Given the description of an element on the screen output the (x, y) to click on. 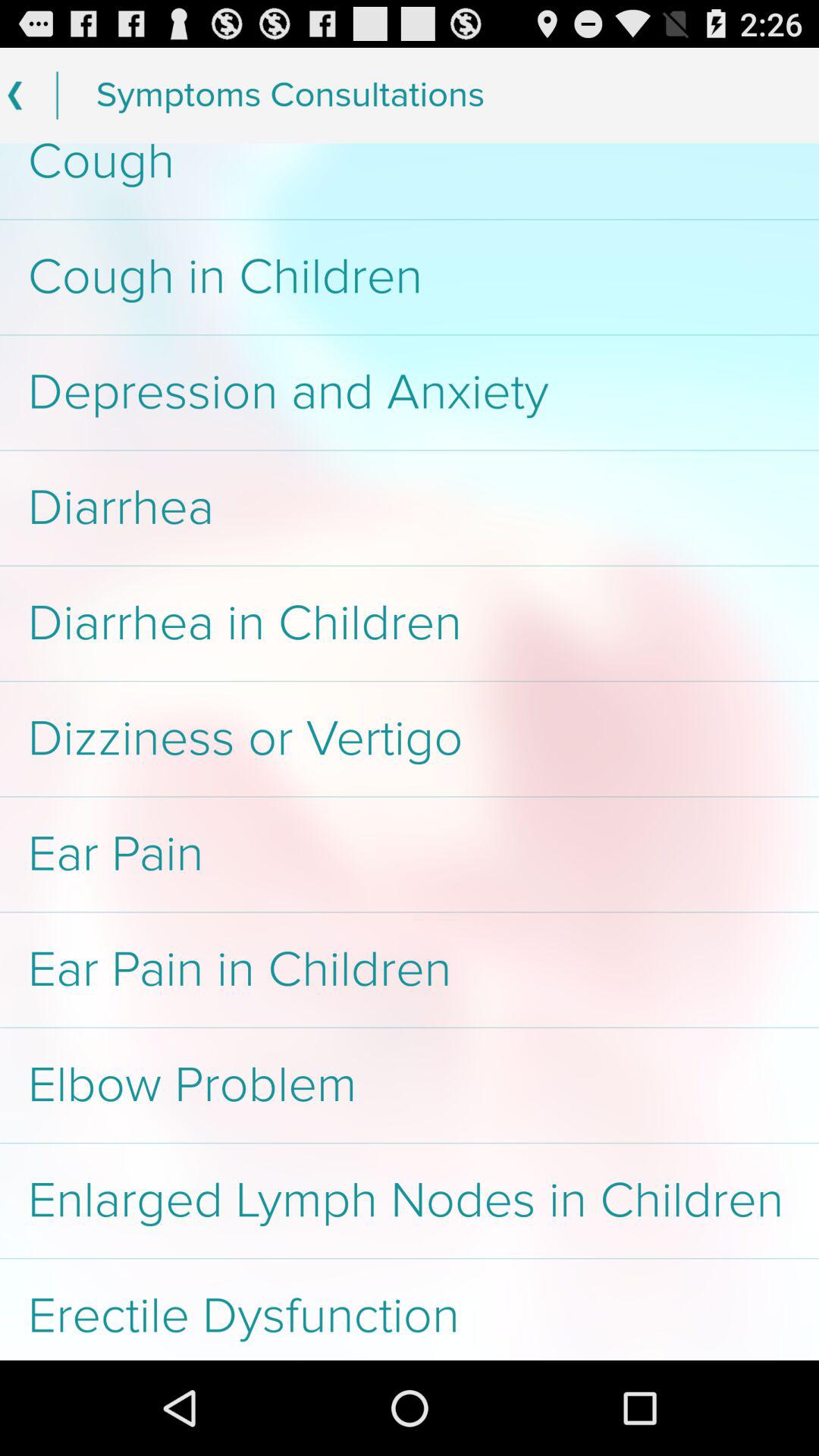
flip until erectile dysfunction app (409, 1309)
